Given the description of an element on the screen output the (x, y) to click on. 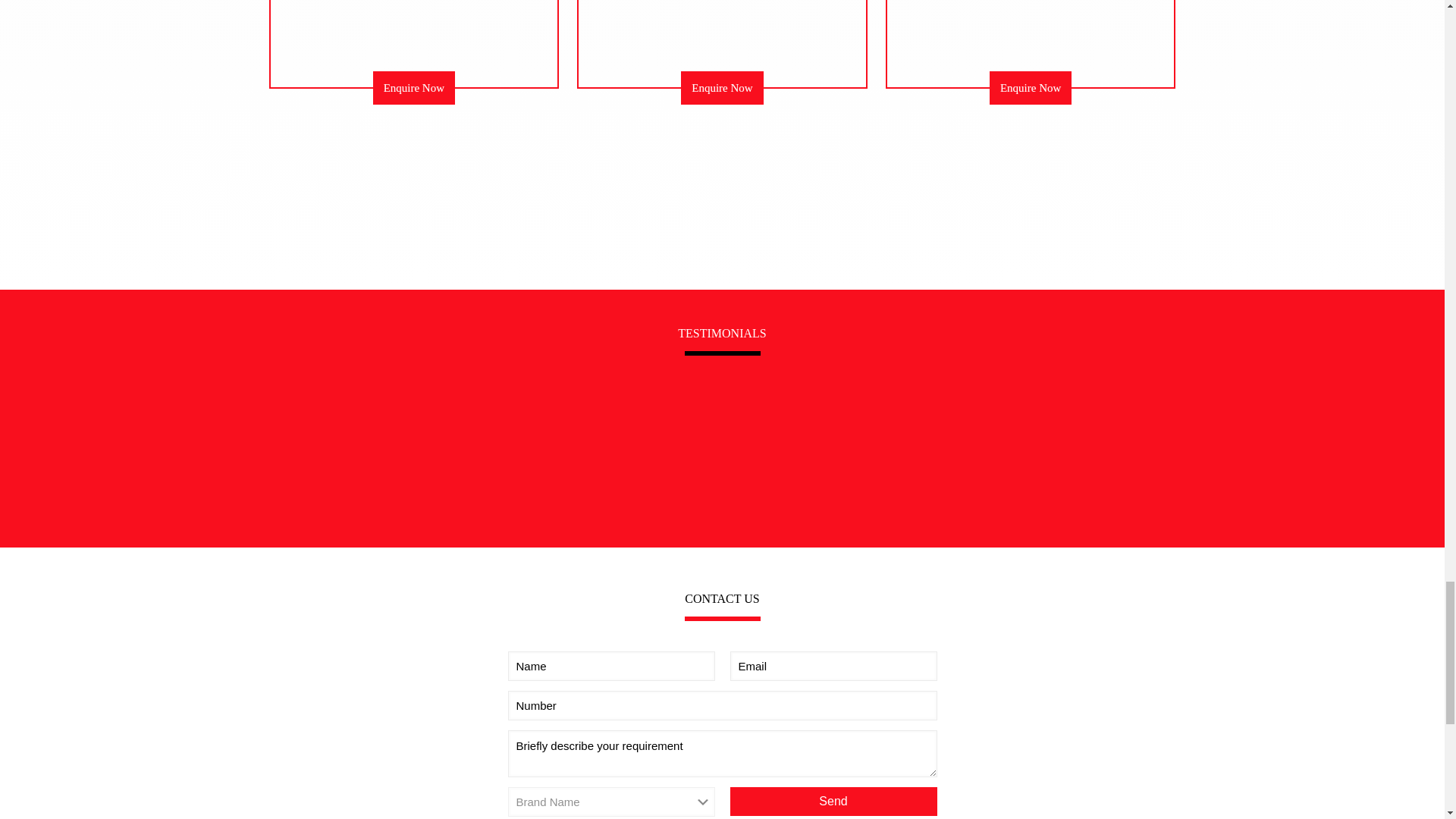
Enquire Now (413, 87)
Enquire Now (721, 87)
Send (832, 801)
Enquire Now (1030, 87)
Send (832, 801)
